Given the description of an element on the screen output the (x, y) to click on. 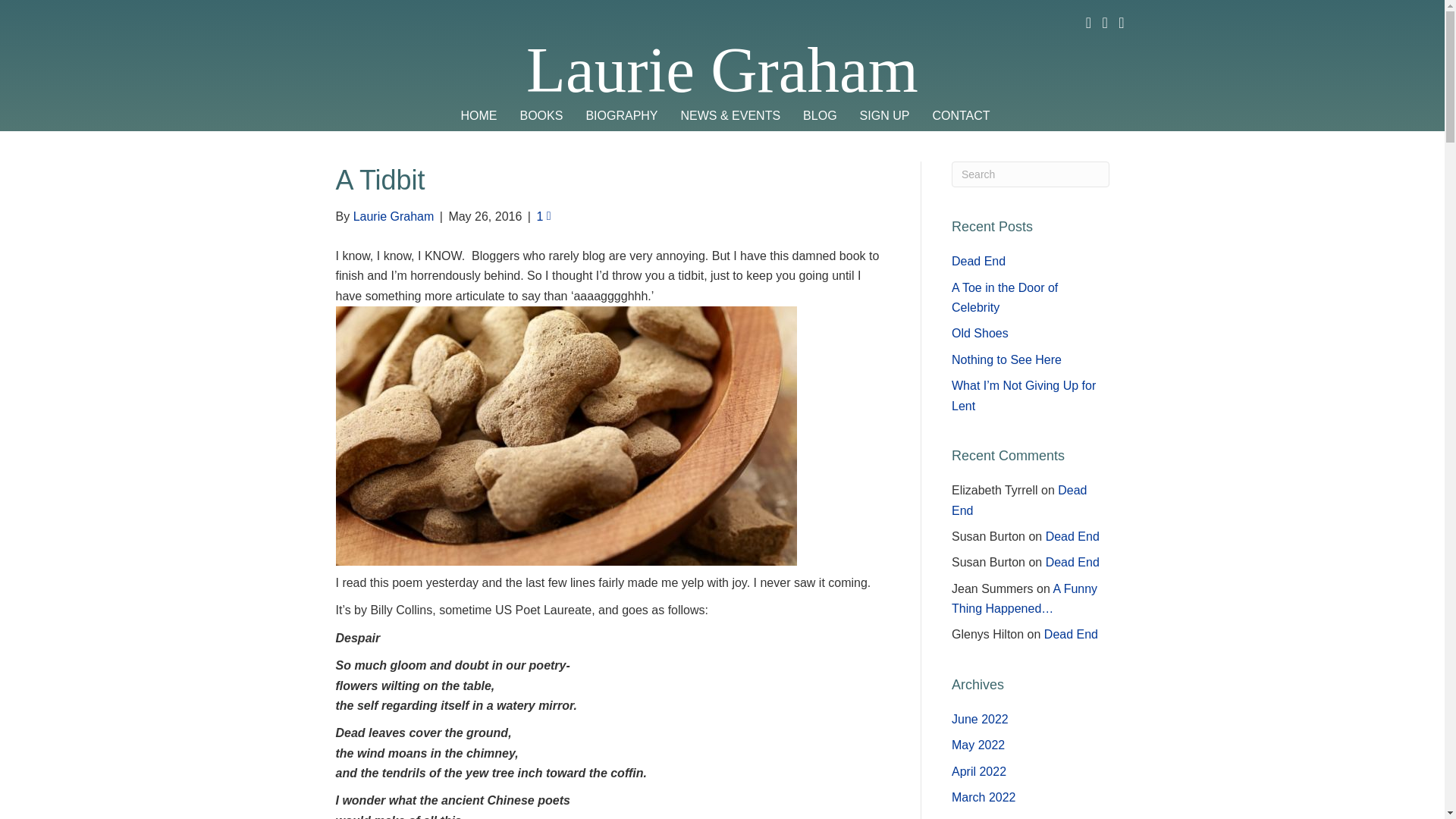
CONTACT (960, 115)
Laurie Graham (393, 215)
Dead End (1072, 535)
Laurie Graham (721, 69)
May 2022 (978, 744)
Nothing to See Here (1006, 359)
March 2022 (984, 797)
BOOKS (540, 115)
June 2022 (980, 718)
Dead End (1019, 500)
